Given the description of an element on the screen output the (x, y) to click on. 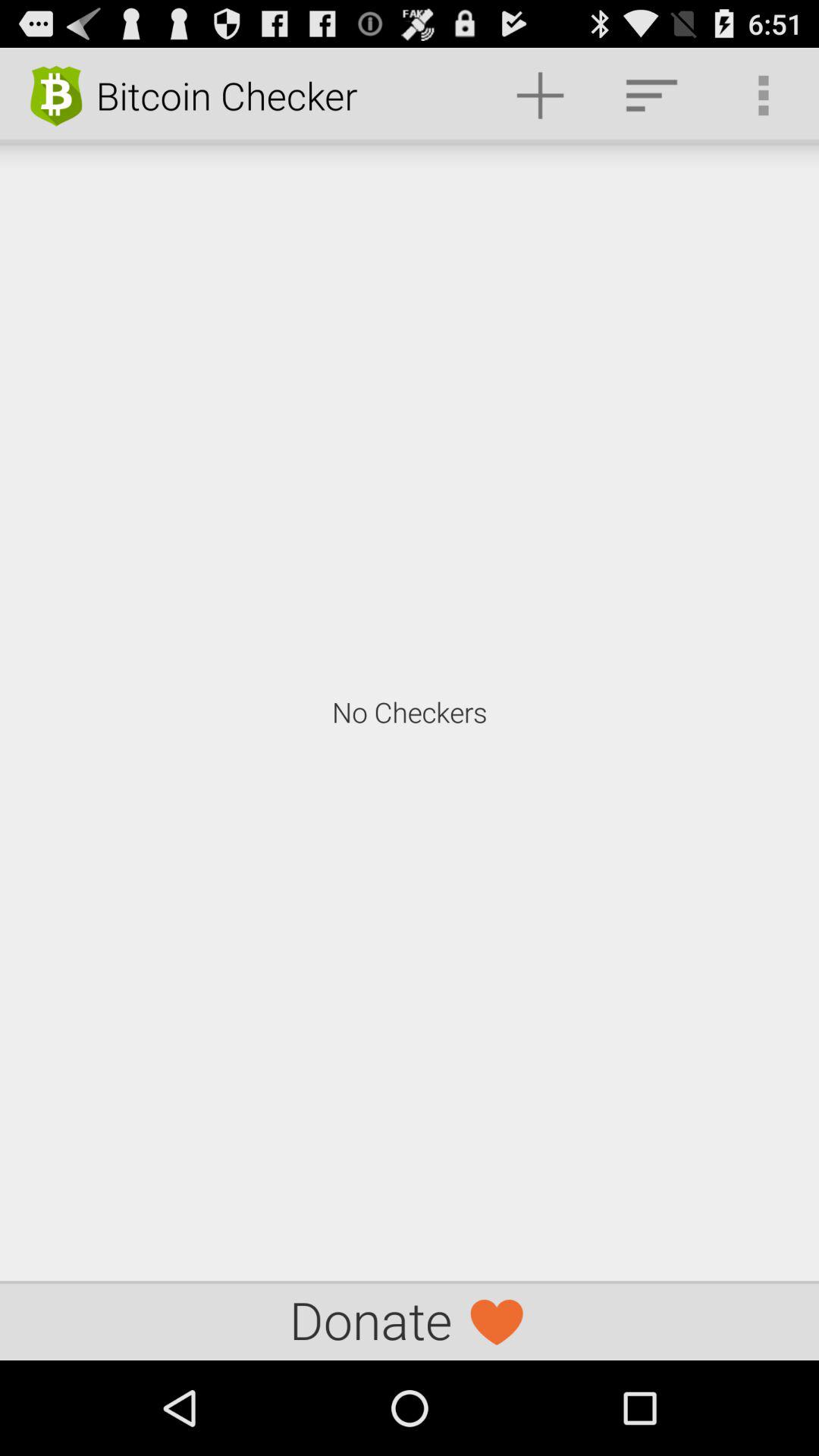
click icon at the top (540, 95)
